Given the description of an element on the screen output the (x, y) to click on. 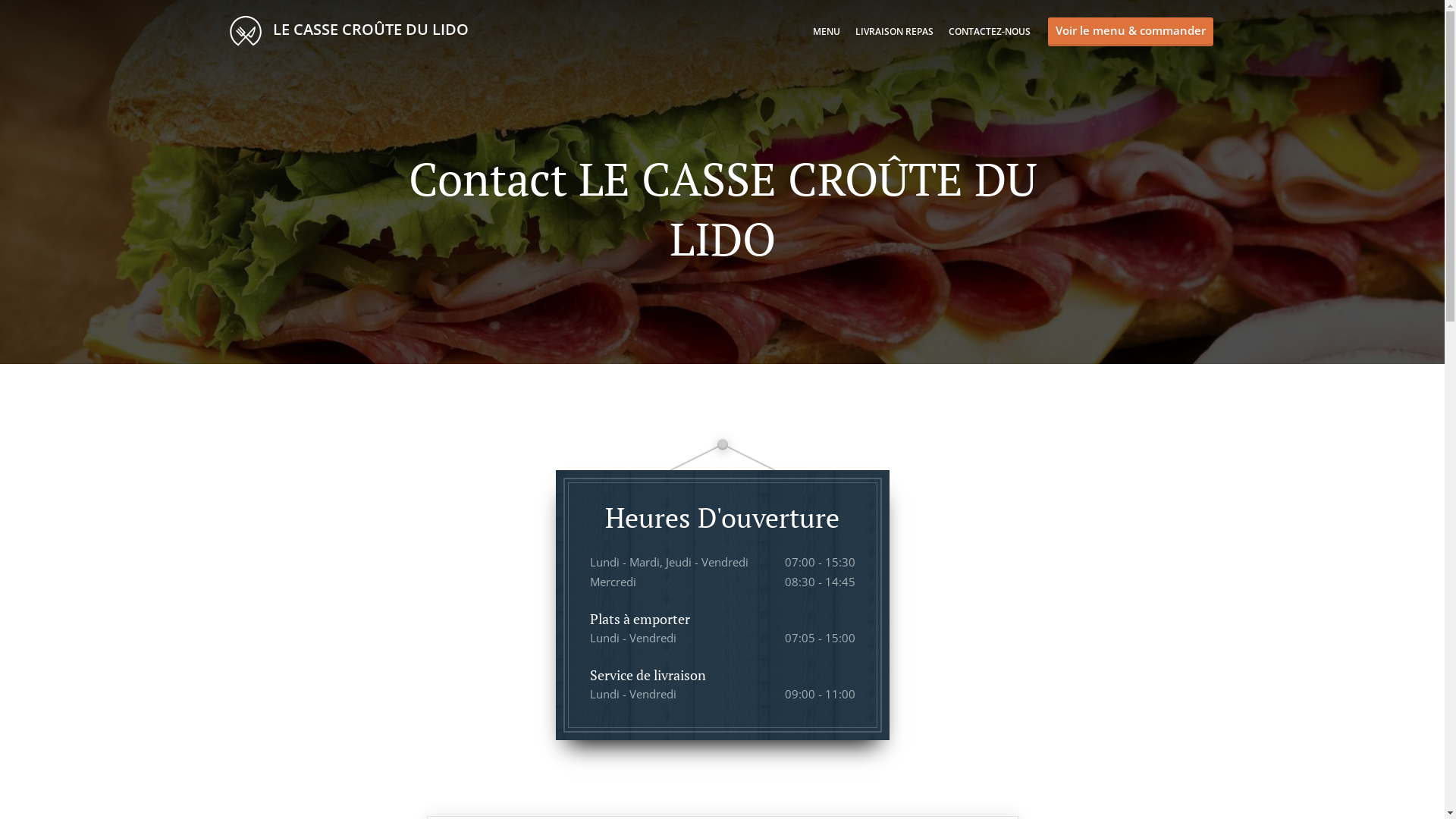
CONTACTEZ-NOUS Element type: text (988, 31)
LIVRAISON REPAS Element type: text (894, 31)
MENU Element type: text (826, 31)
